Given the description of an element on the screen output the (x, y) to click on. 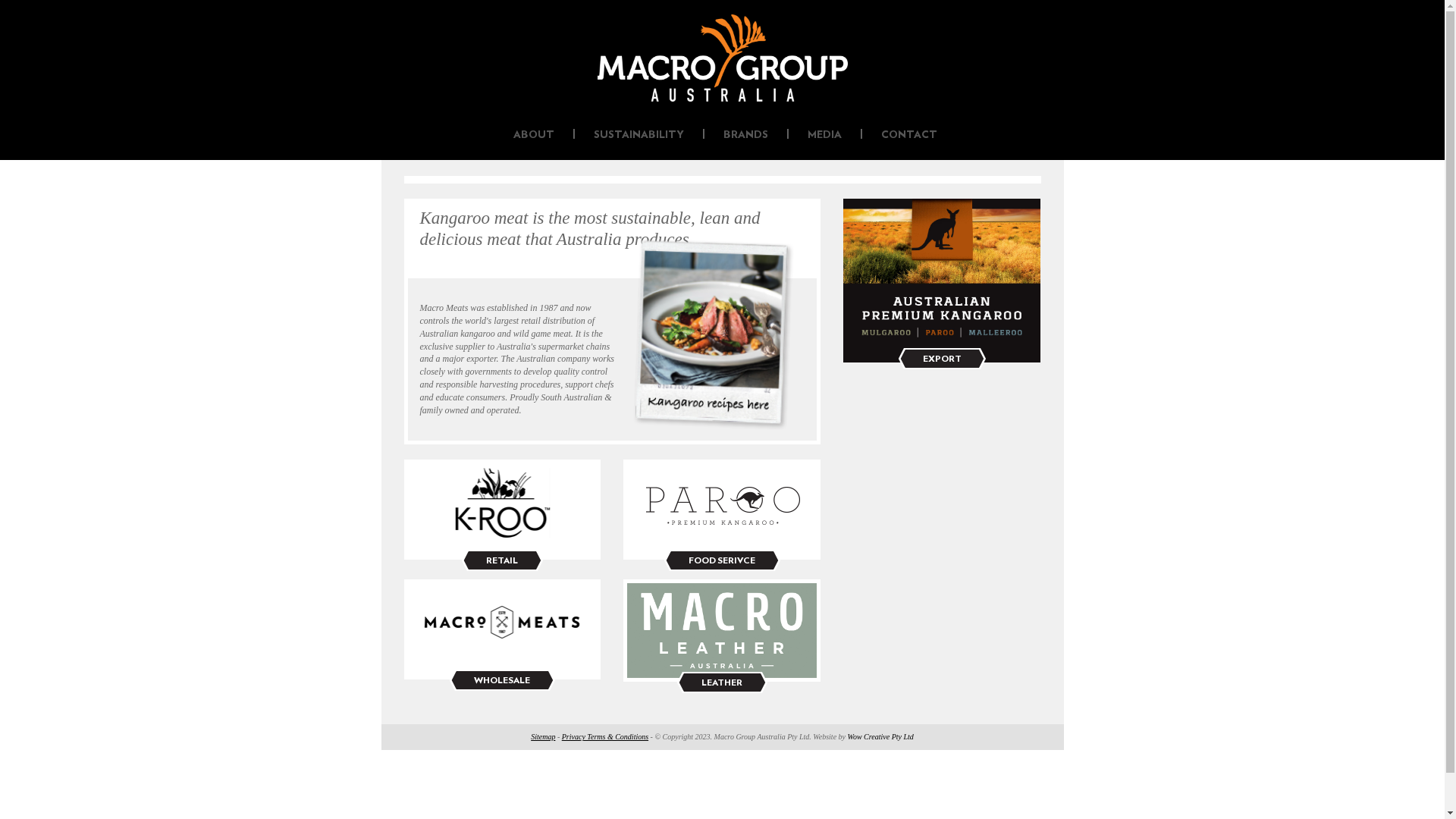
MEDIA Element type: text (824, 134)
EXPORT Element type: text (942, 358)
ABOUT Element type: text (533, 134)
Sitemap Element type: text (542, 736)
Privacy Terms & Conditions Element type: text (604, 736)
FOOD SERIVCE Element type: text (721, 560)
RETAIL Element type: text (501, 560)
Wow Creative Pty Ltd Element type: text (880, 736)
Macro Group Australia Element type: hover (722, 57)
SUSTAINABILITY Element type: text (638, 134)
LEATHER Element type: text (721, 682)
WHOLESALE Element type: text (501, 679)
CONTACT Element type: text (909, 134)
BRANDS Element type: text (745, 134)
